Given the description of an element on the screen output the (x, y) to click on. 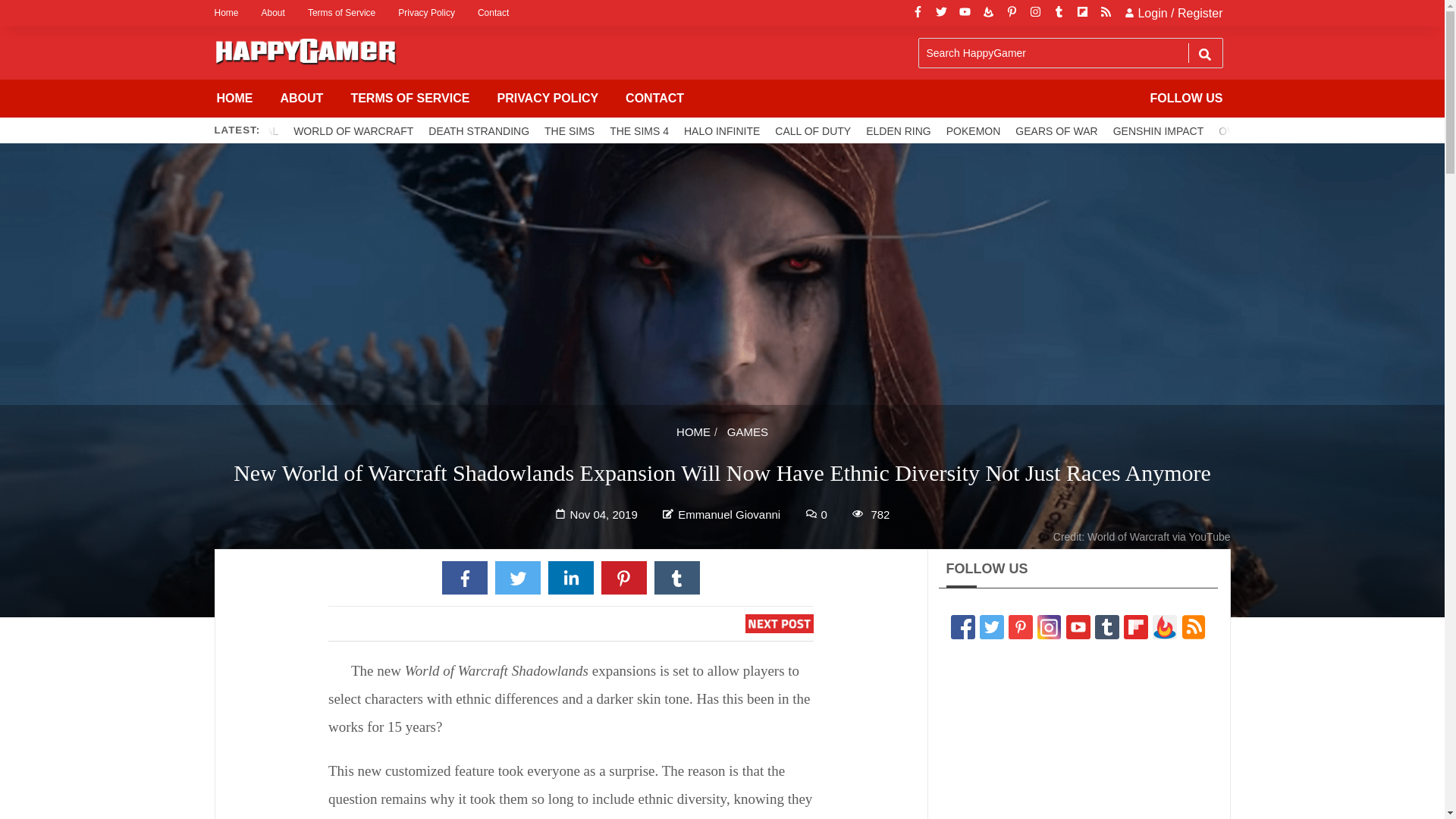
About (273, 13)
FOLLOW US (1186, 98)
CONTACT (654, 98)
THE SIMS 4 (639, 130)
Home (231, 13)
TERMS OF SERVICE (409, 98)
Contact (492, 13)
Contact (492, 13)
Terms of Service (342, 13)
Privacy Policy (426, 13)
Terms of Service (342, 13)
CALL OF DUTY (813, 130)
WORLD OF WARCRAFT (352, 130)
HALO INFINITE (722, 130)
ABOUT (301, 98)
